Given the description of an element on the screen output the (x, y) to click on. 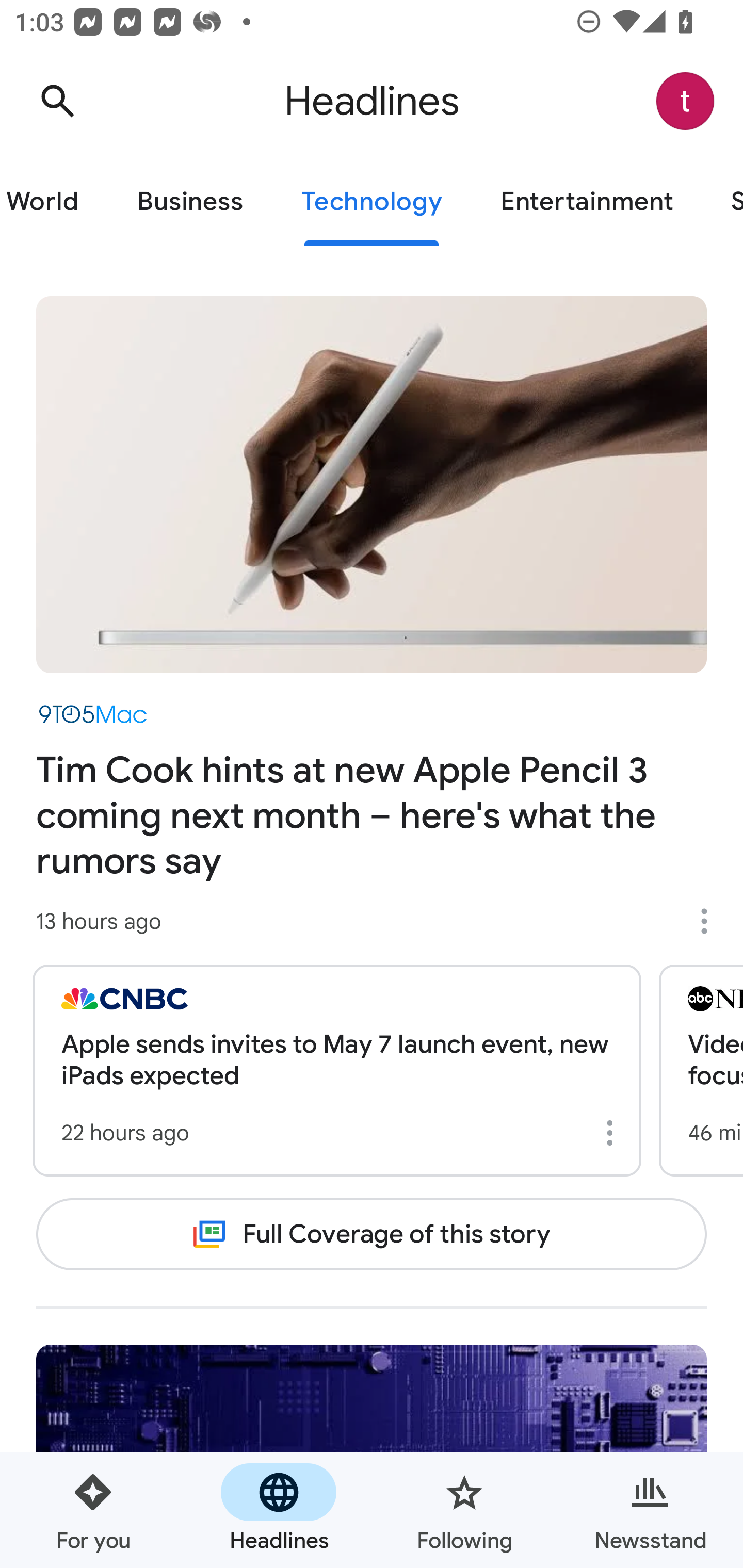
Search (57, 100)
World (53, 202)
Business (189, 202)
Entertainment (586, 202)
More options (711, 921)
More options (613, 1132)
Full Coverage of this story (371, 1233)
For you (92, 1509)
Headlines (278, 1509)
Following (464, 1509)
Newsstand (650, 1509)
